Given the description of an element on the screen output the (x, y) to click on. 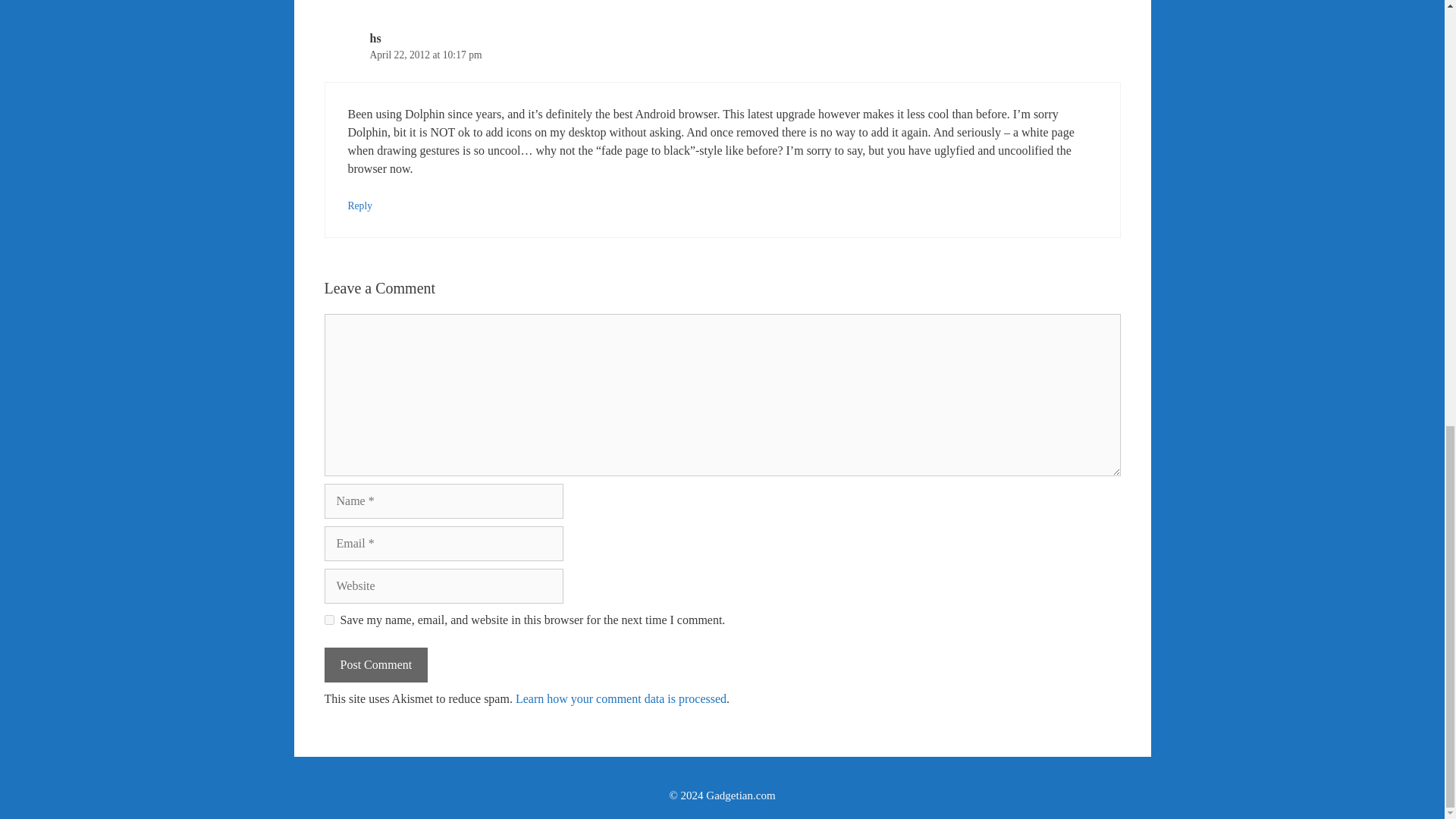
Reply (359, 205)
April 22, 2012 at 10:17 pm (425, 54)
yes (329, 619)
Post Comment (376, 664)
Learn how your comment data is processed (620, 698)
Post Comment (376, 664)
Scroll back to top (1406, 648)
